Given the description of an element on the screen output the (x, y) to click on. 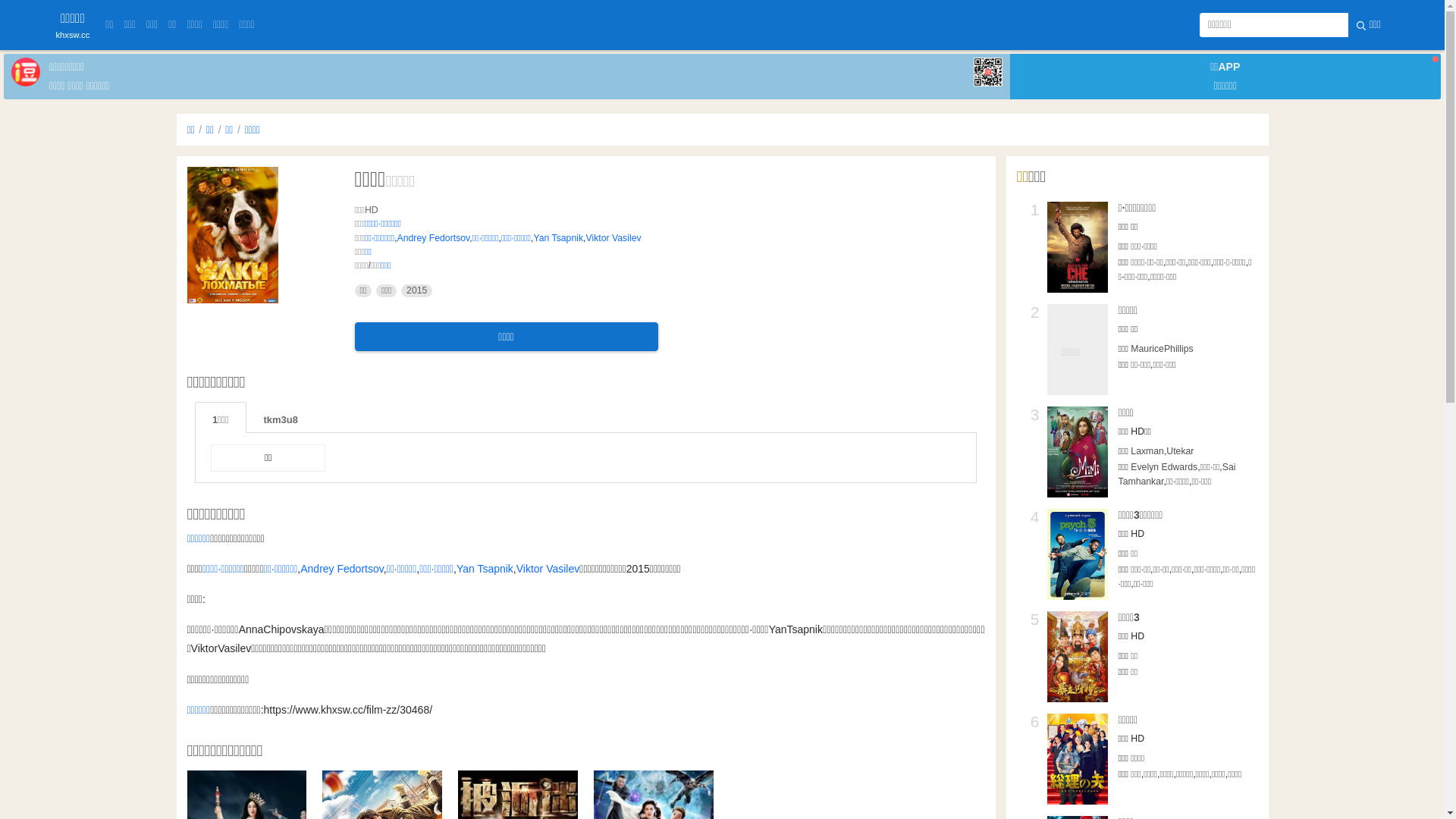
Utekar Element type: text (1179, 450)
Laxman Element type: text (1147, 450)
Yan Tsapnik Element type: text (558, 237)
Andrey Fedortsov Element type: text (341, 568)
Andrey Fedortsov Element type: text (433, 237)
Yan Tsapnik Element type: text (484, 568)
Evelyn Edwards Element type: text (1163, 466)
Sai Tamhankar Element type: text (1176, 473)
2015 Element type: text (416, 290)
Viktor Vasilev Element type: text (548, 568)
tkm3u8 Element type: text (280, 417)
MauricePhillips Element type: text (1161, 348)
Viktor Vasilev Element type: text (612, 237)
